Given the description of an element on the screen output the (x, y) to click on. 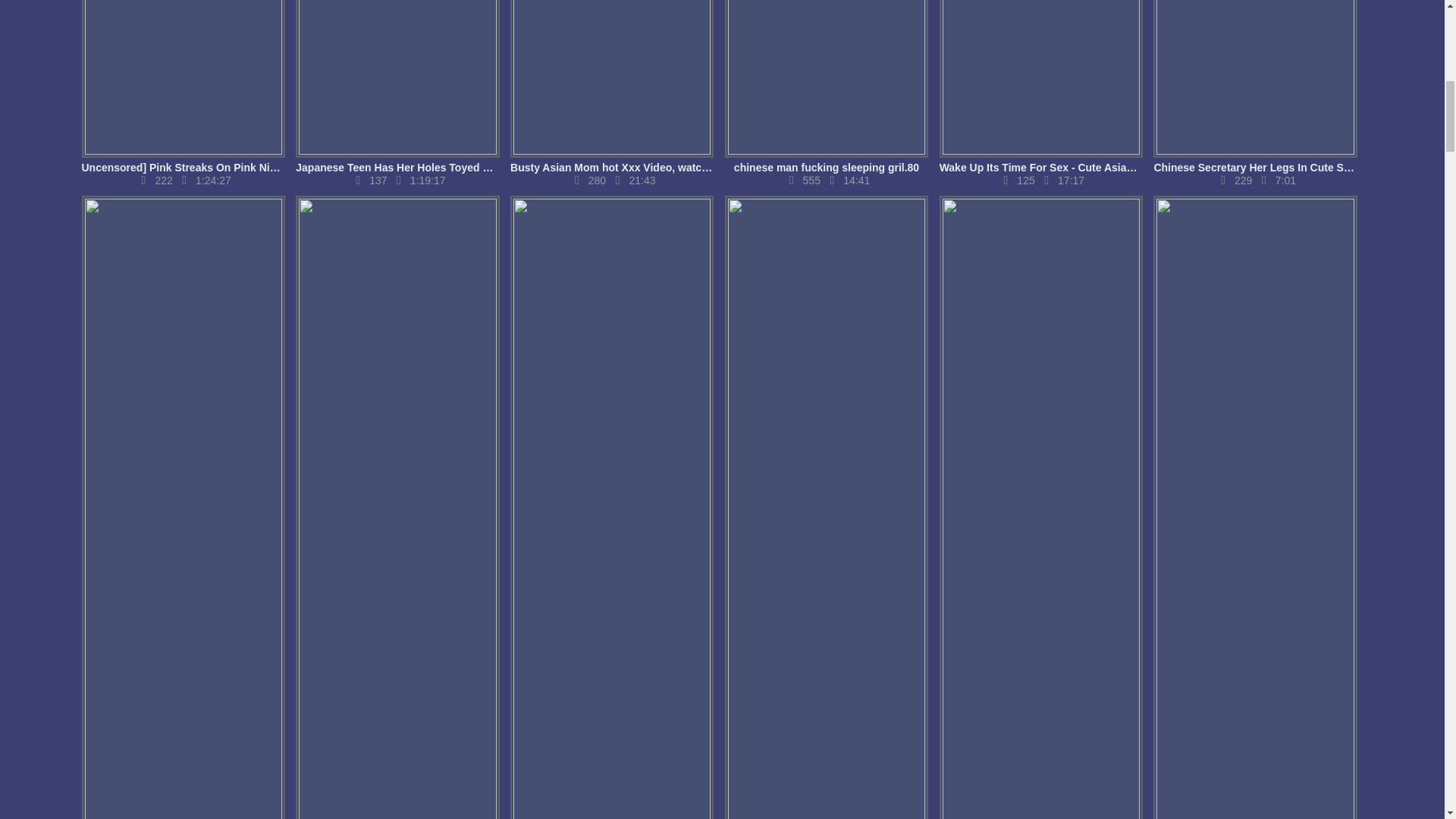
chinese man fucking sleeping gril.80 (826, 86)
Chinese Secretary Her Legs In Cute Stockings (1254, 86)
Japanese Teen Has Her Holes Toyed Qith (397, 86)
